Given the description of an element on the screen output the (x, y) to click on. 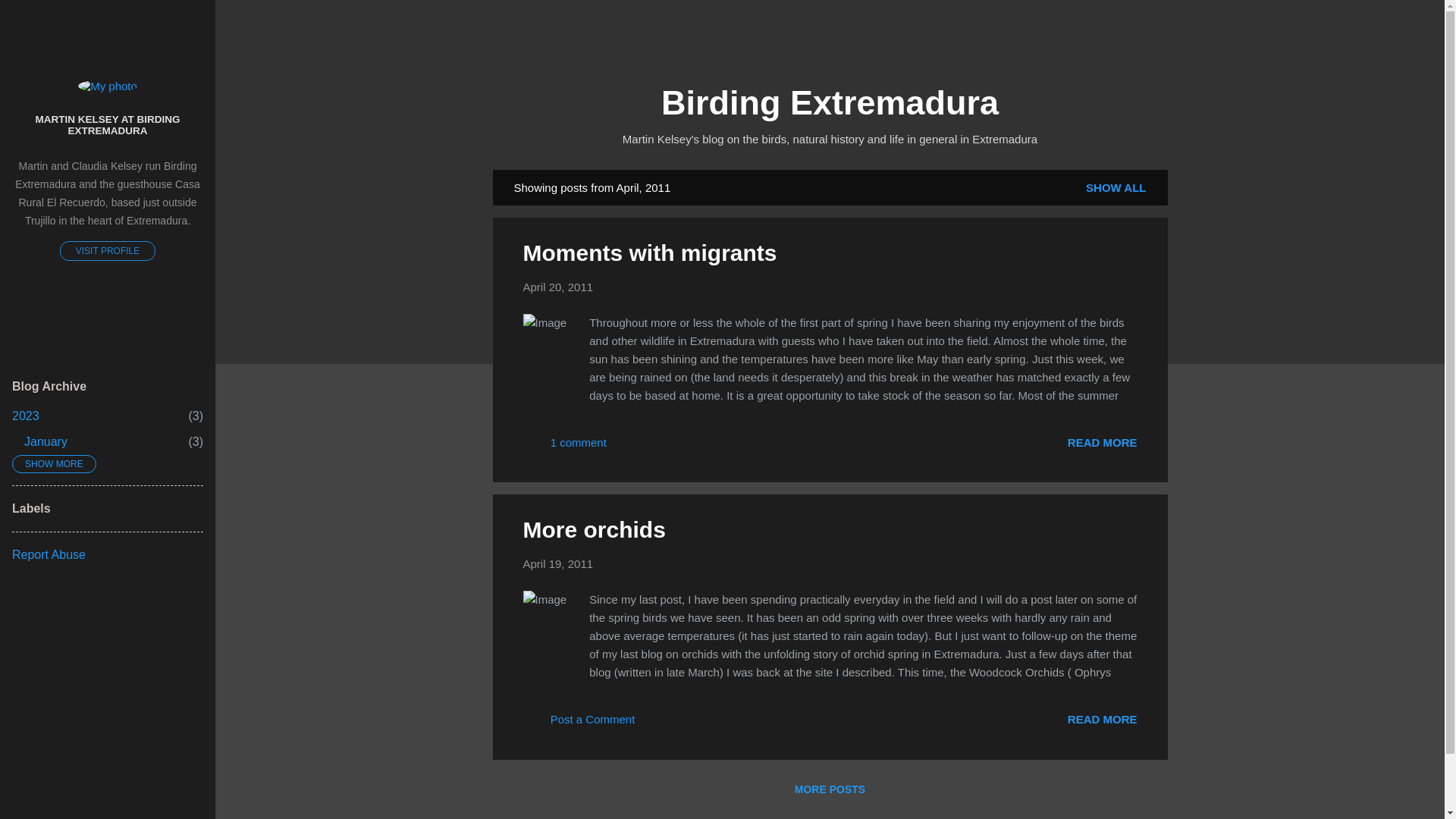
Search (29, 18)
VISIT PROFILE (107, 250)
1 comment (25, 415)
More orchids (564, 447)
MARTIN KELSEY AT BIRDING EXTREMADURA (593, 529)
Email Post (107, 125)
READ MORE (630, 447)
READ MORE (1102, 440)
permanent link (1102, 718)
Moments with migrants (558, 286)
April 20, 2011 (1102, 440)
permanent link (558, 286)
SHOW ALL (558, 563)
Post a Comment (1115, 187)
